Given the description of an element on the screen output the (x, y) to click on. 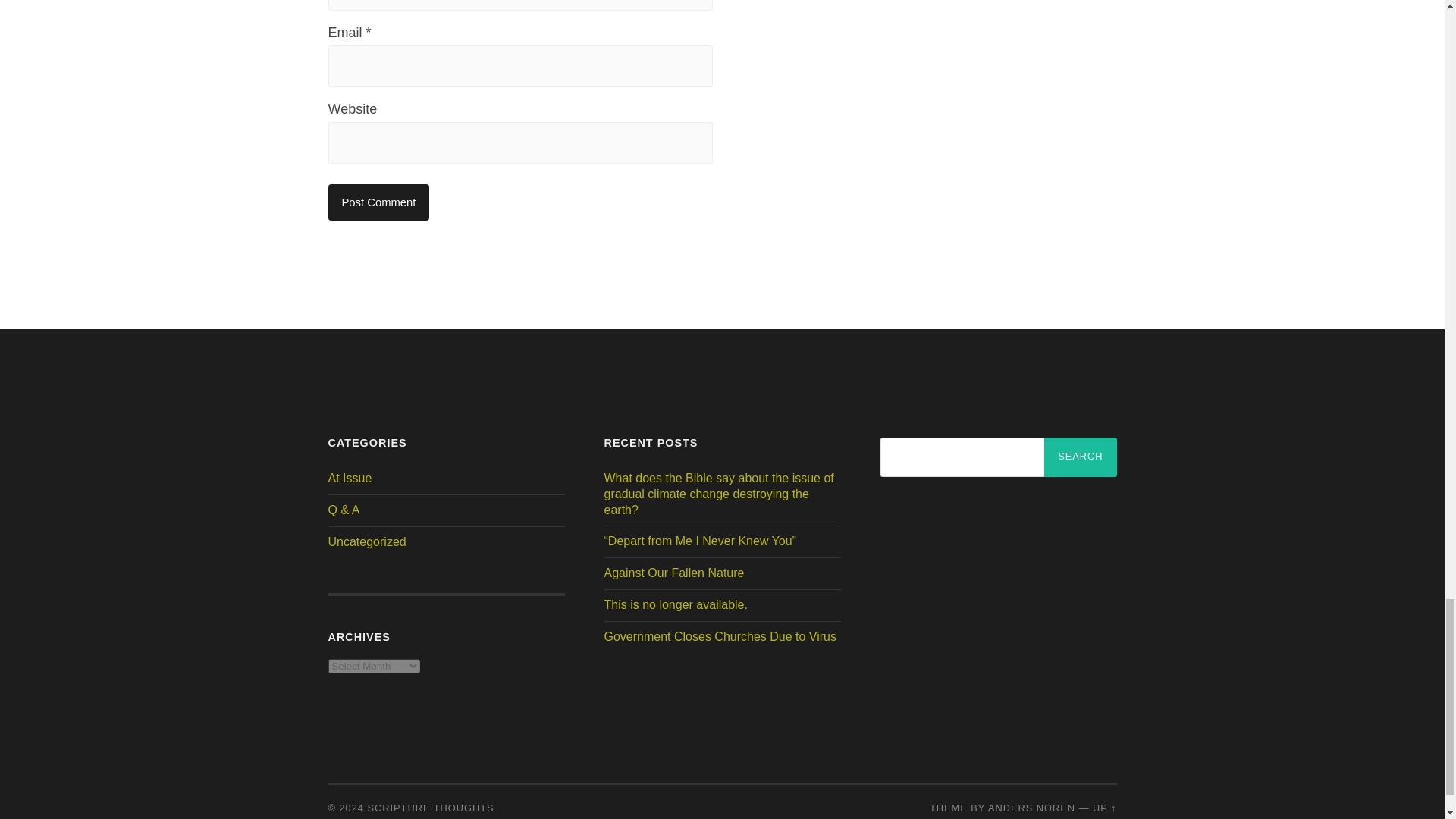
Search (1079, 456)
Post Comment (378, 202)
Uncategorized (366, 541)
At Issue (349, 477)
To the top (1104, 808)
Post Comment (378, 202)
